Given the description of an element on the screen output the (x, y) to click on. 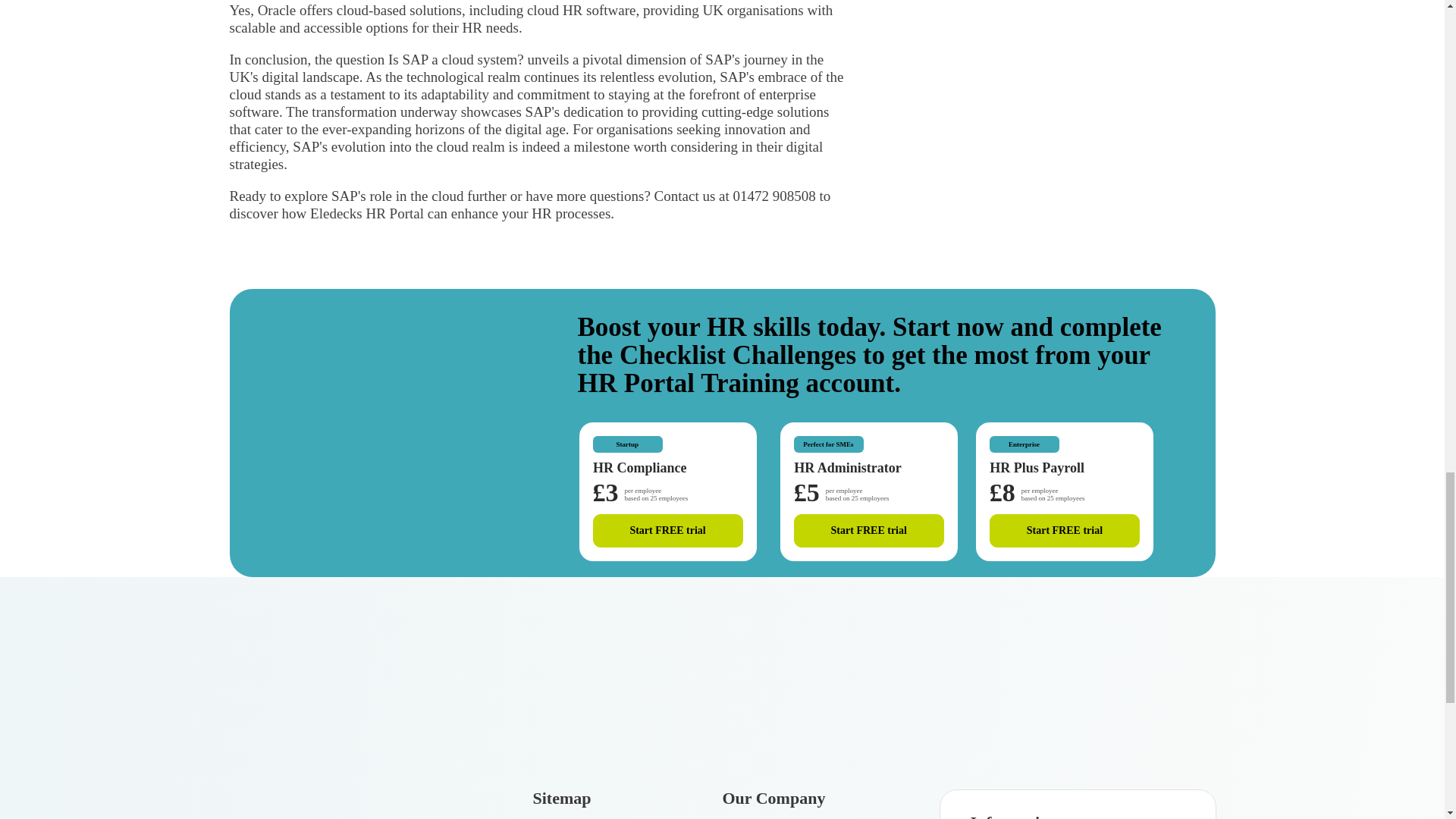
Start FREE trial (1065, 530)
Start FREE trial (667, 530)
Start FREE trial (868, 530)
